Given the description of an element on the screen output the (x, y) to click on. 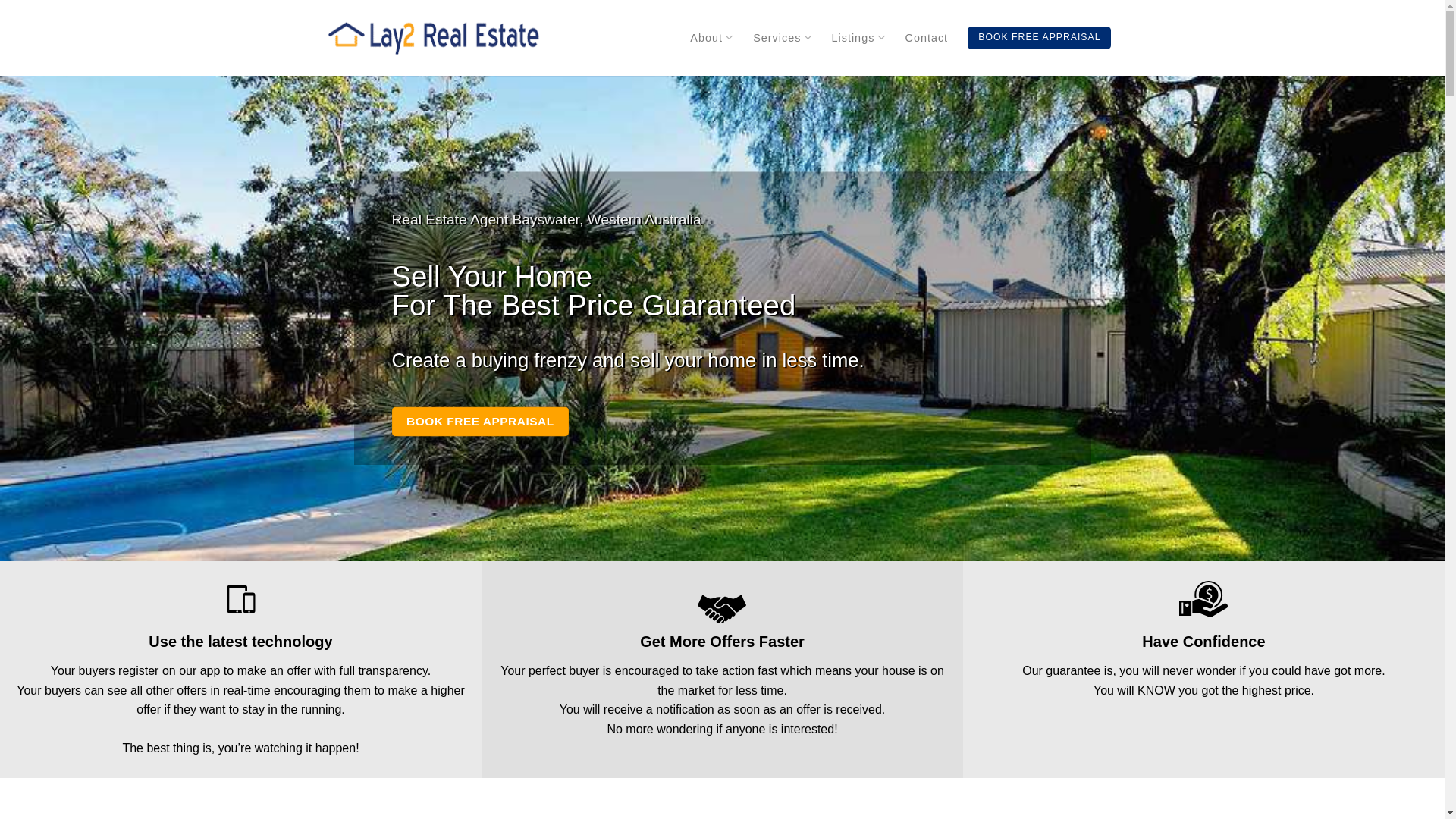
Listings Element type: text (858, 37)
BOOK FREE APPRAISAL Element type: text (479, 421)
About Element type: text (711, 37)
Contact Element type: text (926, 37)
Services Element type: text (782, 37)
BOOK FREE APPRAISAL Element type: text (1038, 38)
